Given the description of an element on the screen output the (x, y) to click on. 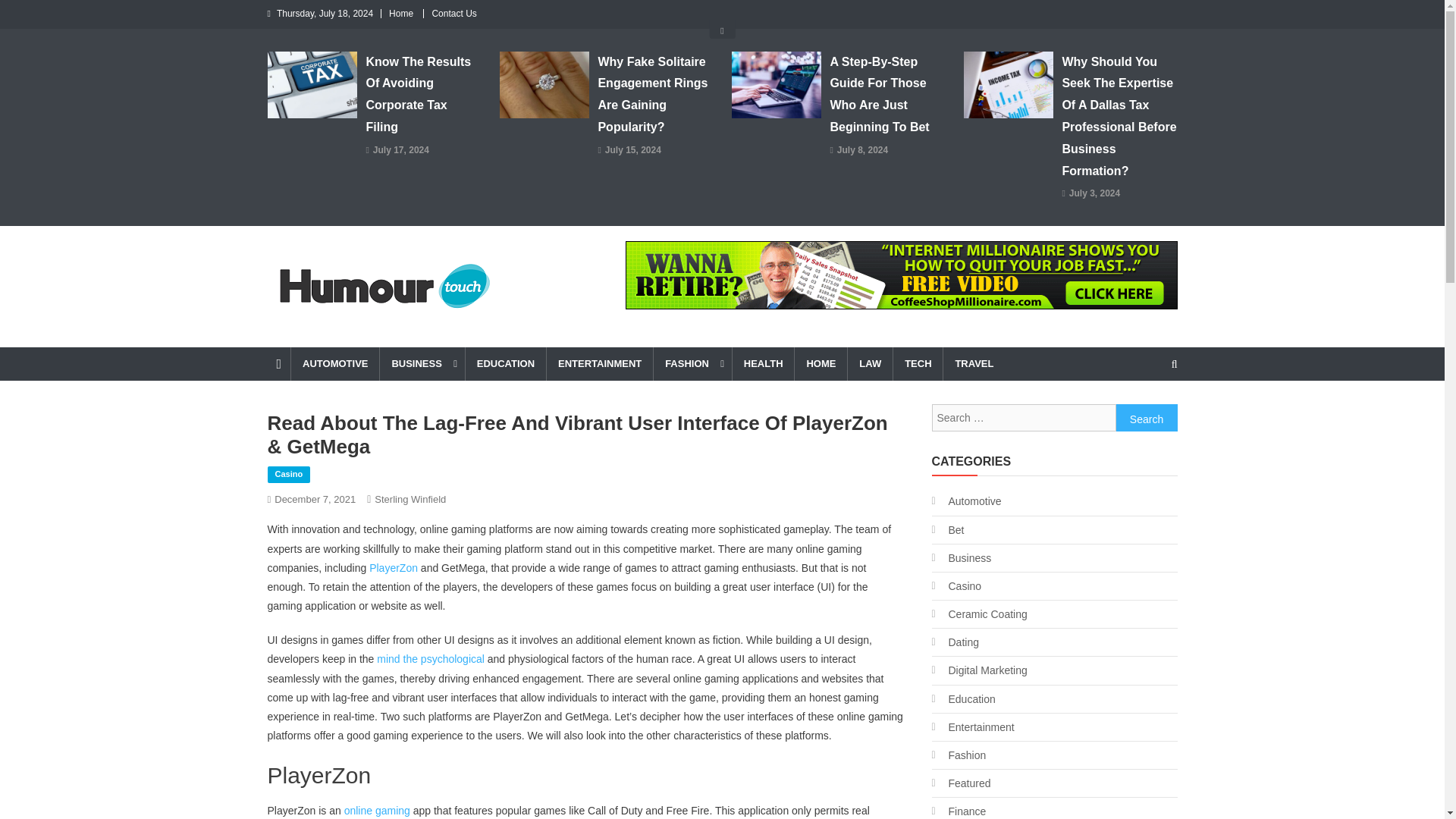
AUTOMOTIVE (333, 363)
July 8, 2024 (862, 150)
EDUCATION (505, 363)
July 17, 2024 (400, 150)
Sterling Winfield (409, 499)
PlayerZon (394, 567)
Know The Results Of Avoiding Corporate Tax Filing  (422, 94)
December 7, 2021 (315, 499)
HEALTH (763, 363)
ENTERTAINMENT (599, 363)
BUSINESS (421, 363)
Humour Touch (352, 331)
TECH (917, 363)
A Step-By-Step Guide For Those Who Are Just Beginning To Bet (886, 94)
